Given the description of an element on the screen output the (x, y) to click on. 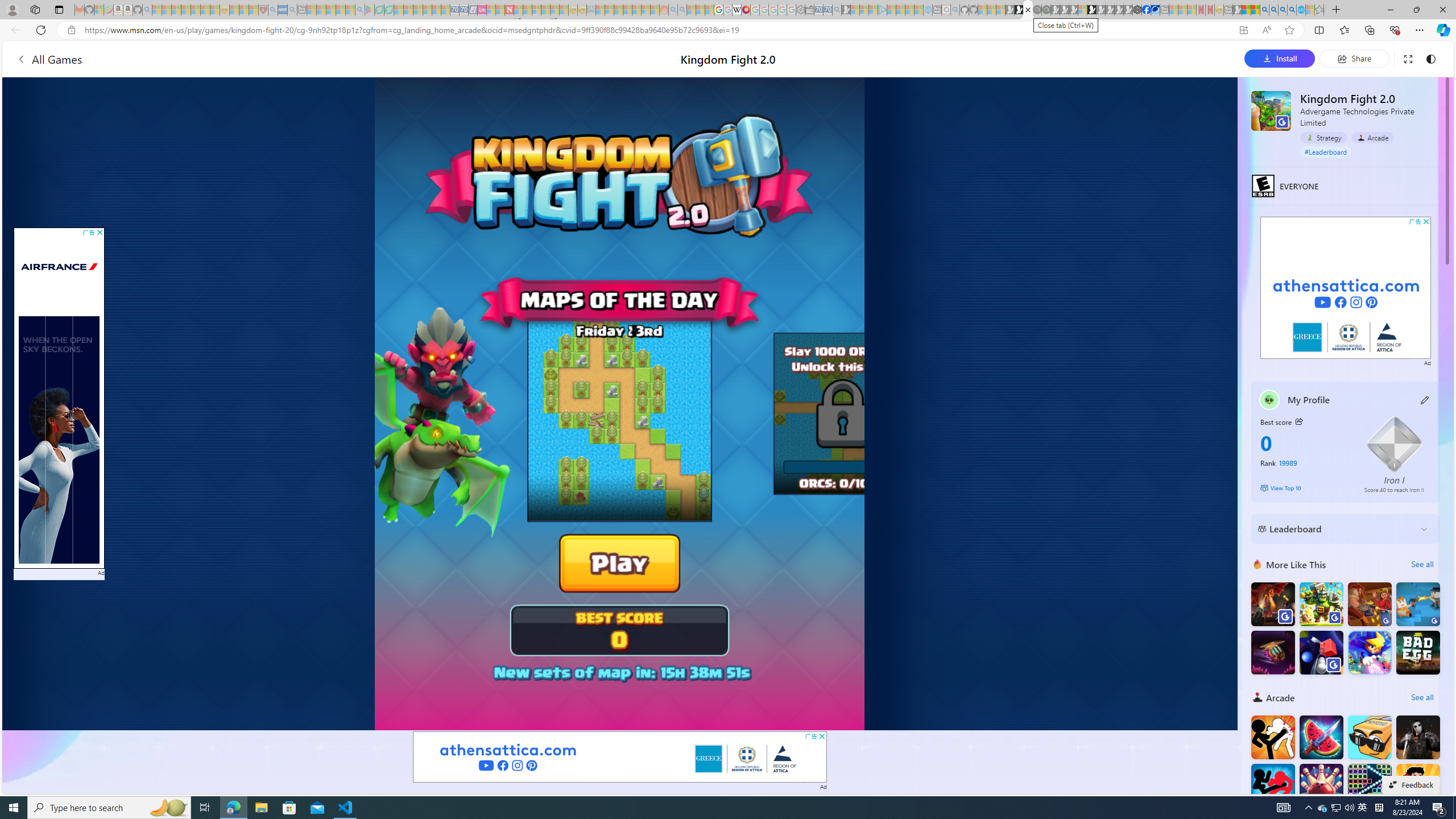
google - Search - Sleeping (359, 9)
Future Focus Report 2024 - Sleeping (1045, 9)
utah sues federal government - Search - Sleeping (291, 9)
Change to dark mode (1430, 58)
AirNow.gov (1154, 9)
